Given the description of an element on the screen output the (x, y) to click on. 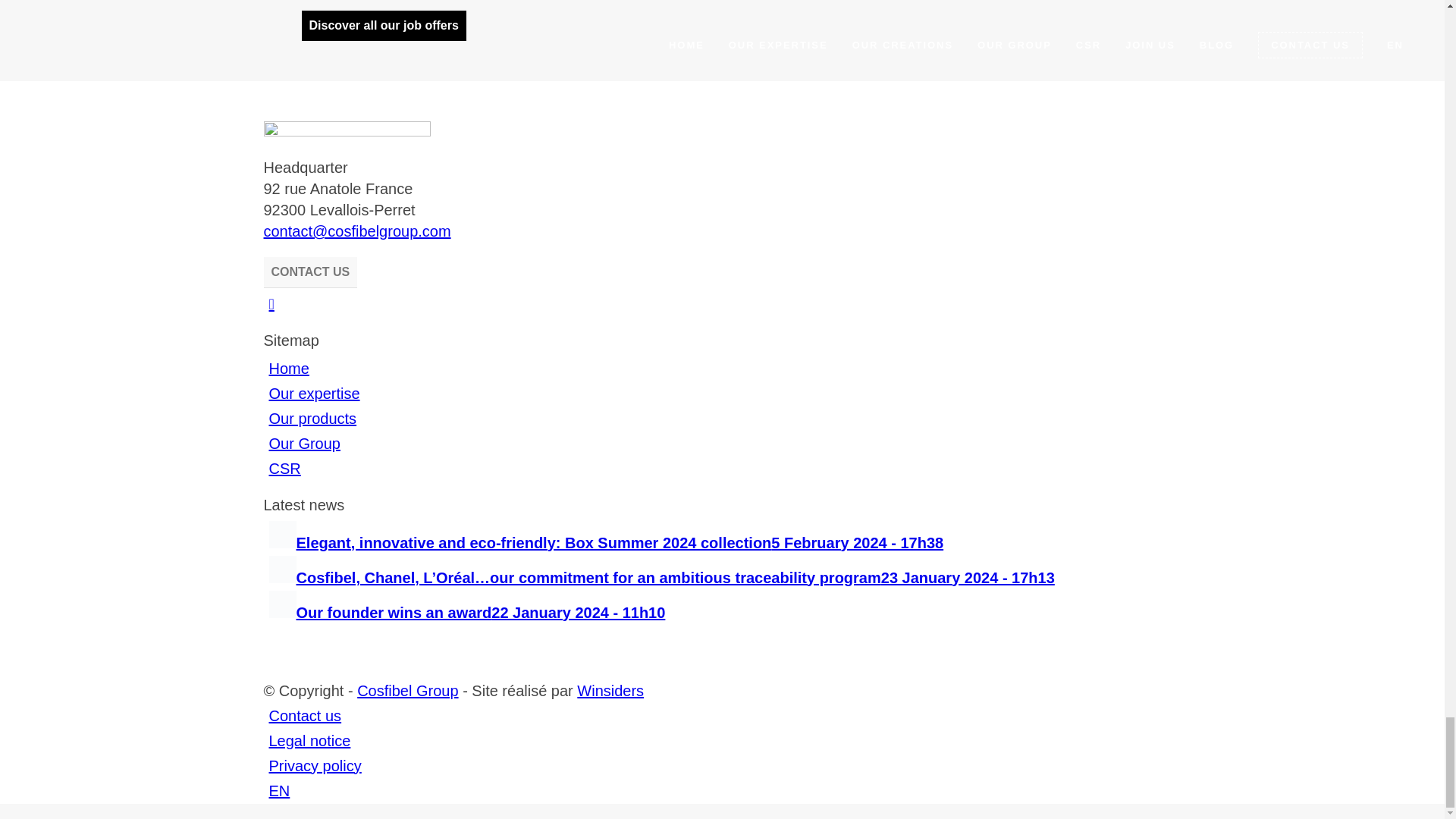
CONTACT US (310, 272)
Discover all our job offers (383, 25)
